Given the description of an element on the screen output the (x, y) to click on. 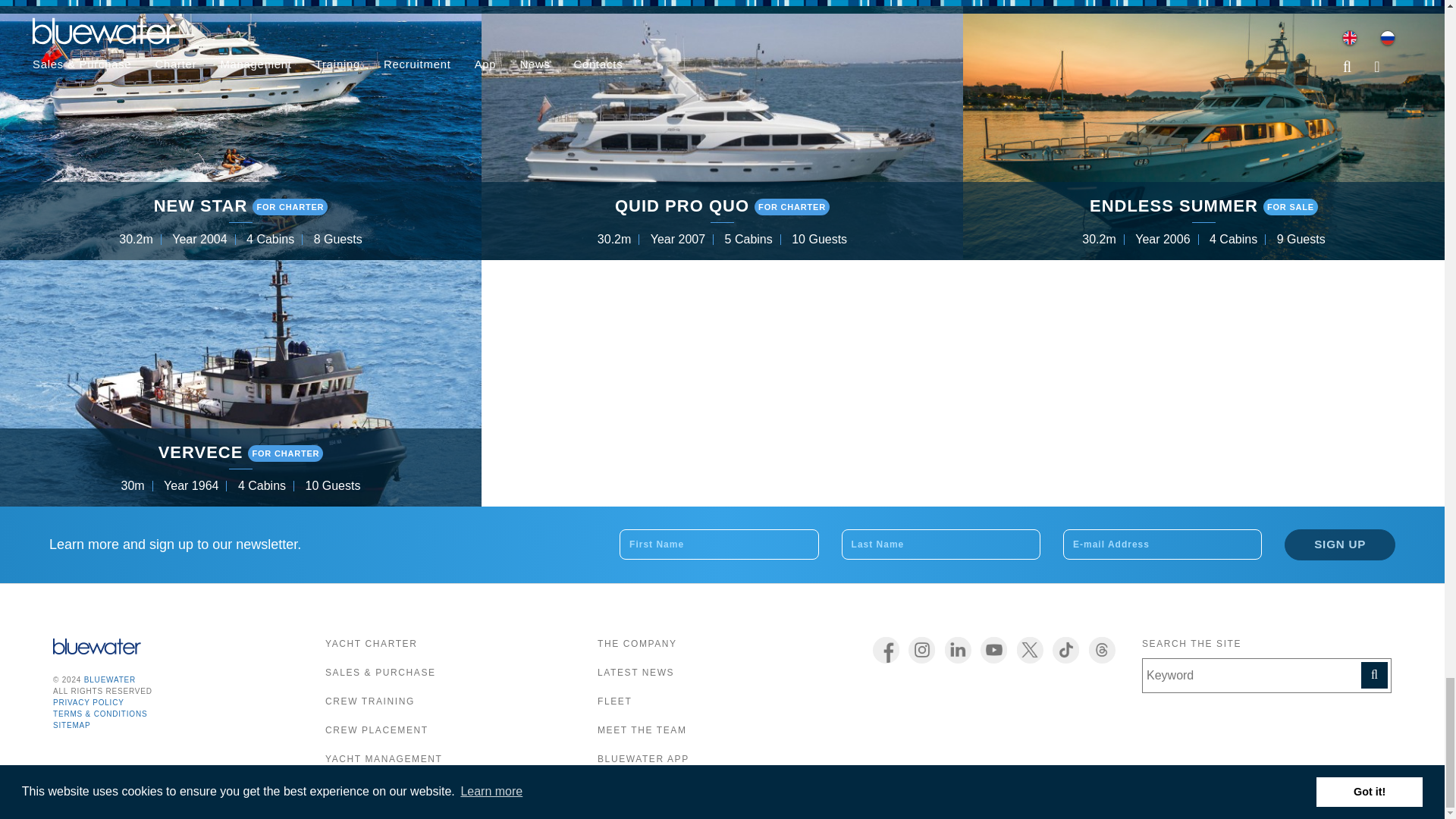
Luxury yacht charter (370, 643)
Luxury yacht sales (379, 672)
Bluewater on Threads (1102, 650)
Yacht crew recruitment (376, 729)
Bluewater on Youtube (993, 650)
Bluewater on Instagram (921, 650)
Yacht management (383, 758)
Yacht crew training (369, 701)
Bluewater is on Facebook (885, 650)
Bluewater on TikTok (1065, 650)
Bluewater on X (1029, 650)
Bluewater on LinkedIn (957, 650)
